Given the description of an element on the screen output the (x, y) to click on. 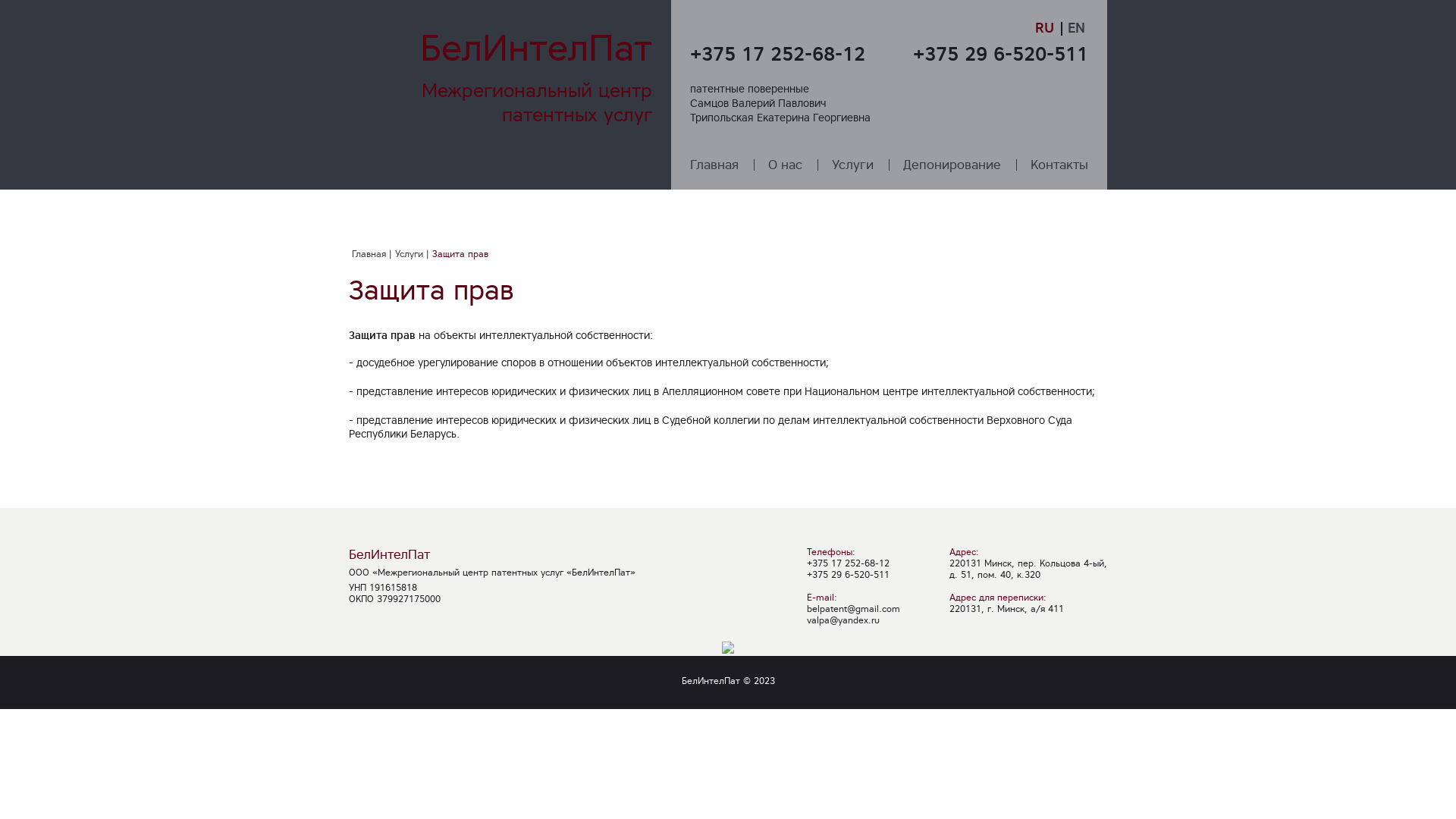
EN Element type: text (1076, 27)
RU Element type: text (1046, 27)
